Given the description of an element on the screen output the (x, y) to click on. 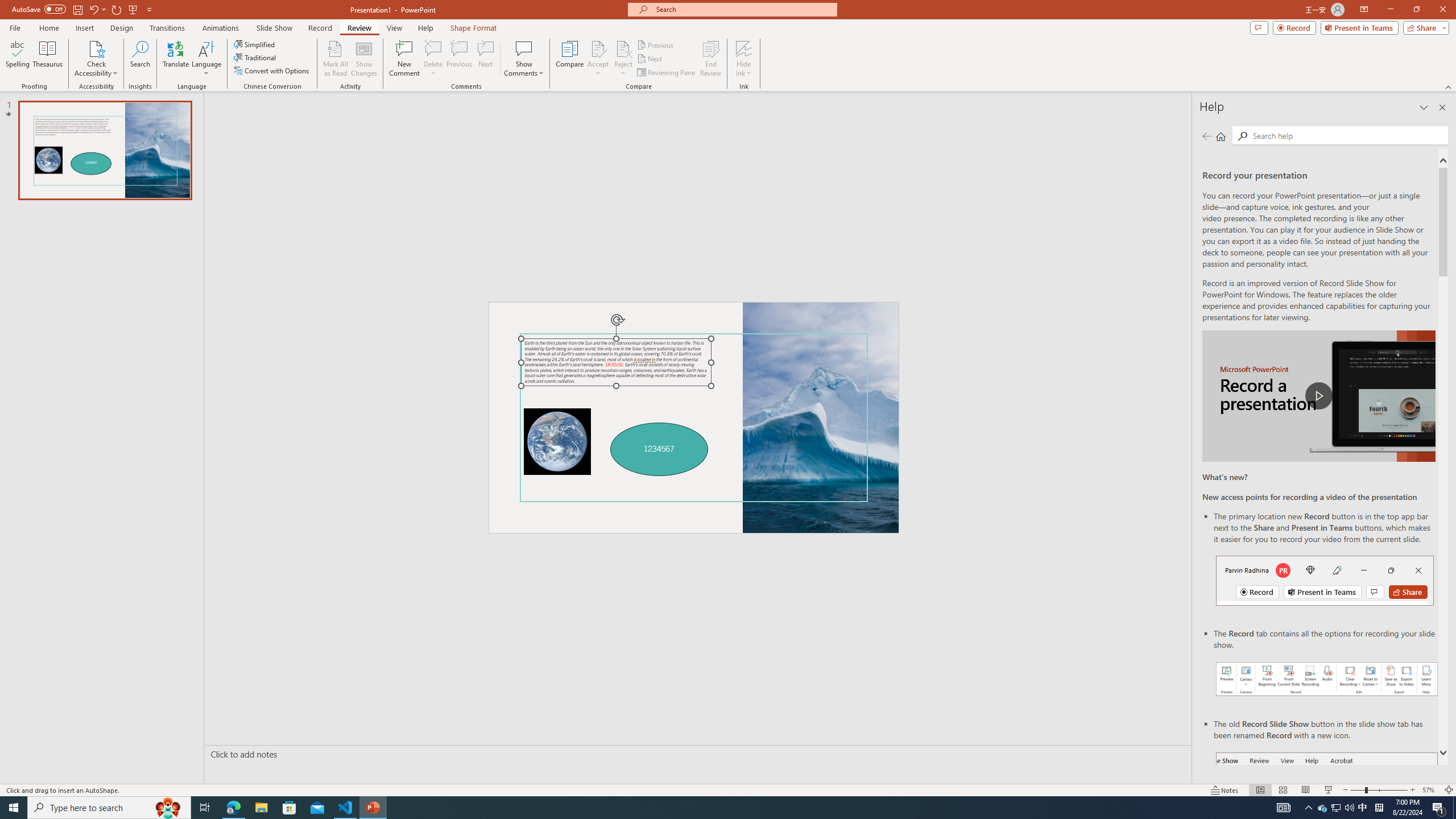
Translate (175, 58)
Delete (432, 48)
Zoom 57% (1430, 790)
End Review (710, 58)
Reject (622, 58)
Convert with Options... (272, 69)
